Given the description of an element on the screen output the (x, y) to click on. 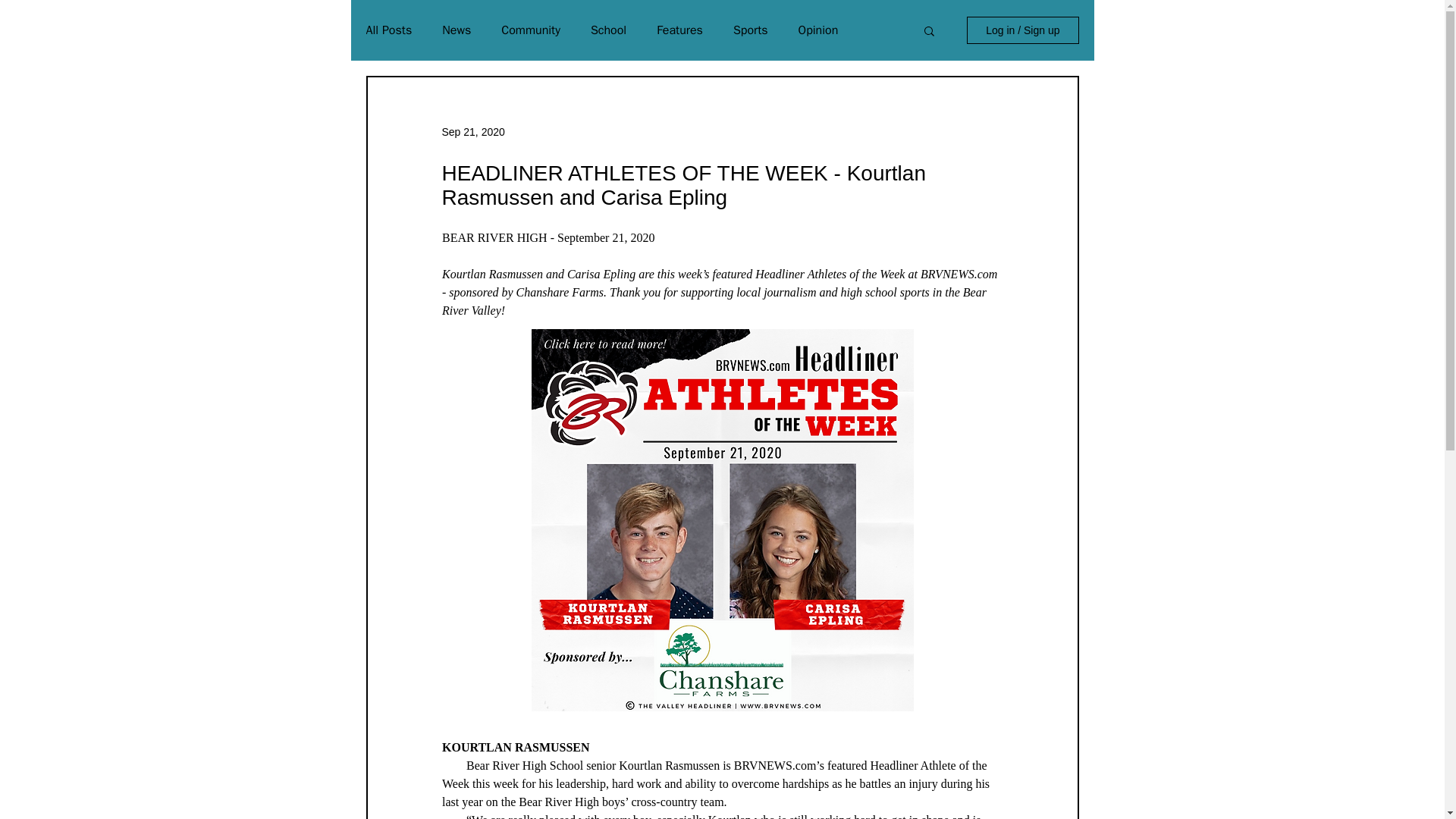
Sep 21, 2020 (472, 132)
All Posts (388, 30)
Community (530, 30)
Opinion (817, 30)
Features (679, 30)
News (456, 30)
Sports (750, 30)
School (608, 30)
